Given the description of an element on the screen output the (x, y) to click on. 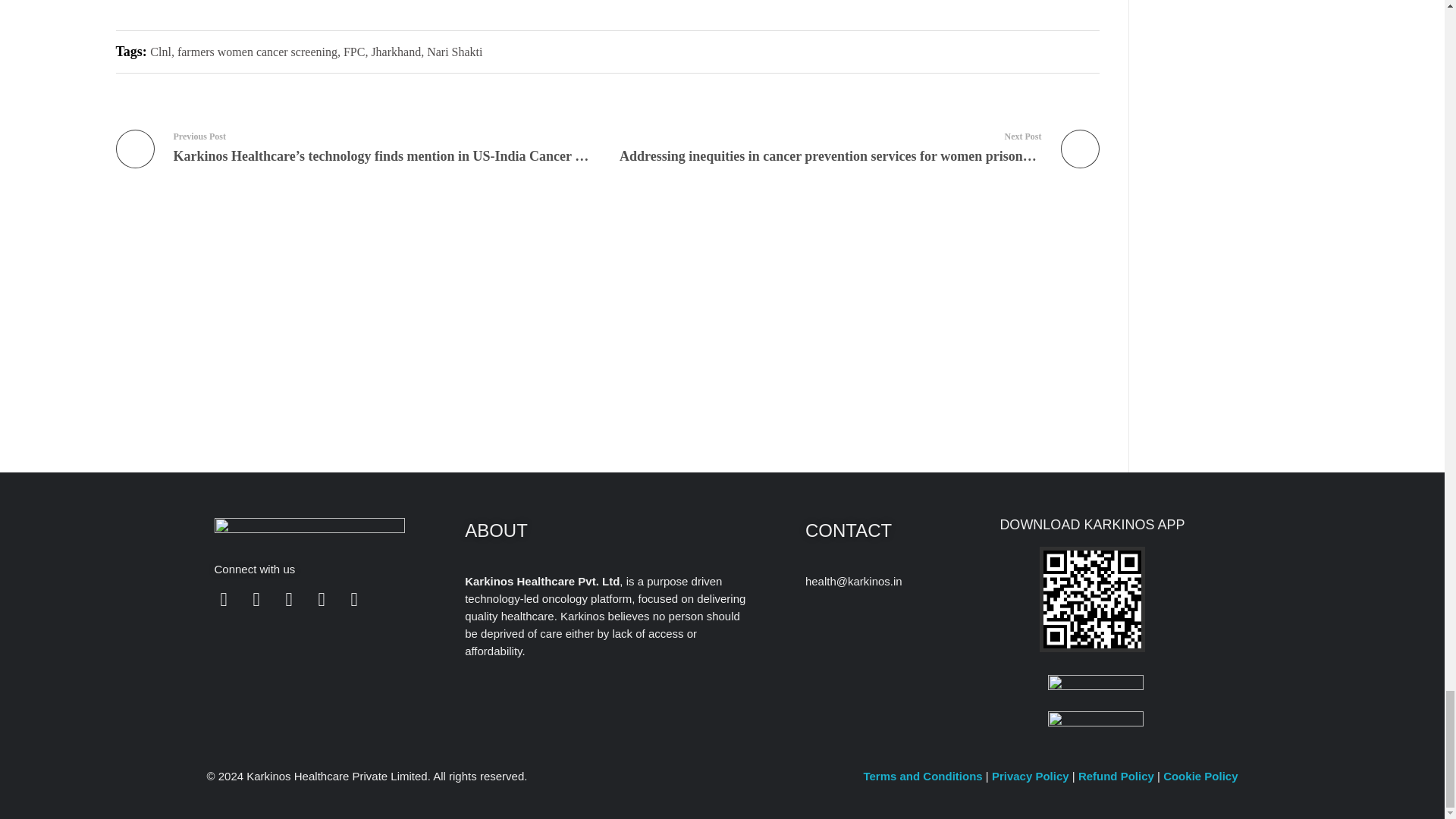
farmers women cancer screening (257, 51)
Jharkhand (395, 51)
Clnl (160, 51)
Nari Shakti (453, 51)
FPC (354, 51)
